Given the description of an element on the screen output the (x, y) to click on. 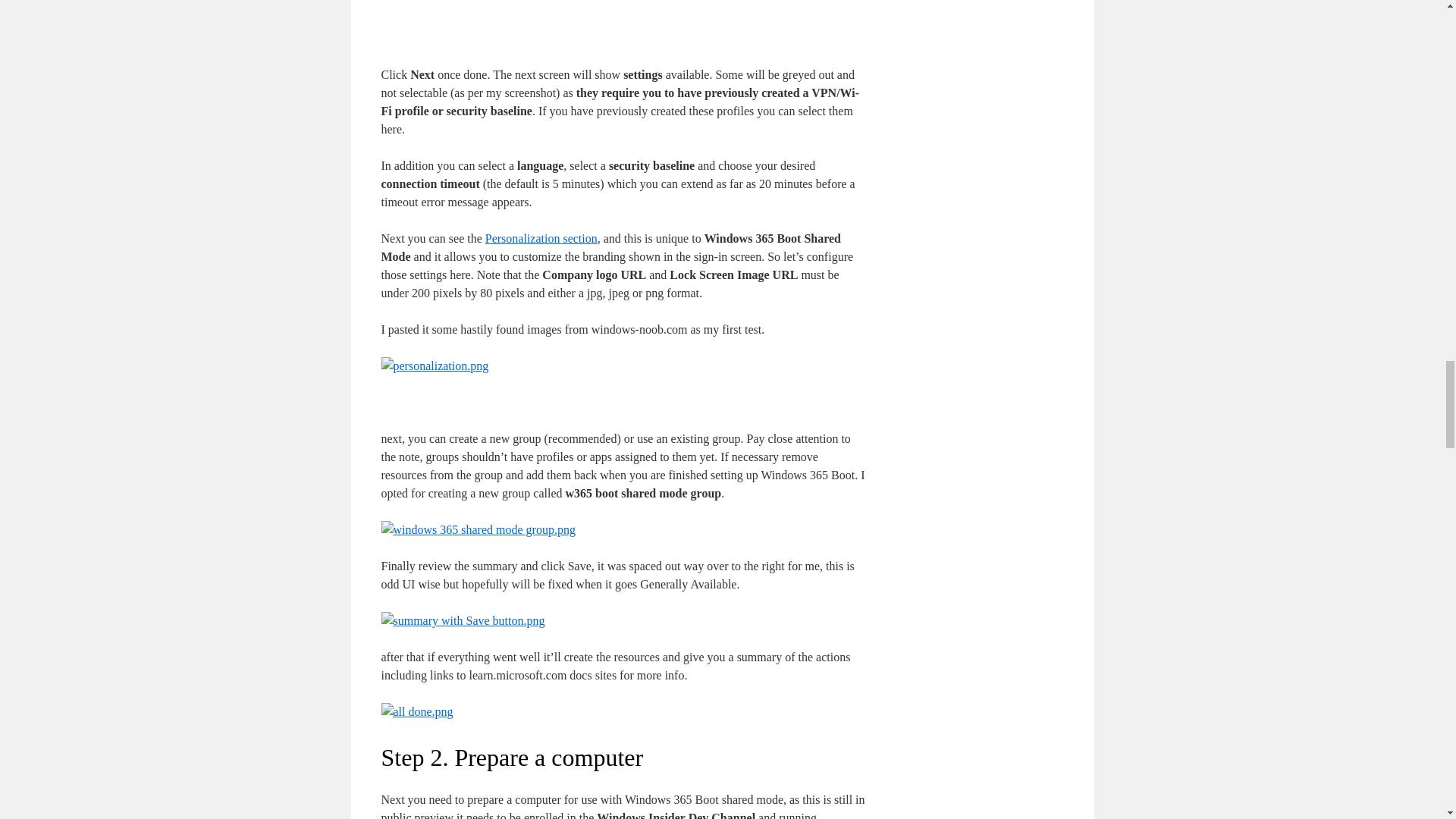
Personalization section (540, 237)
